Given the description of an element on the screen output the (x, y) to click on. 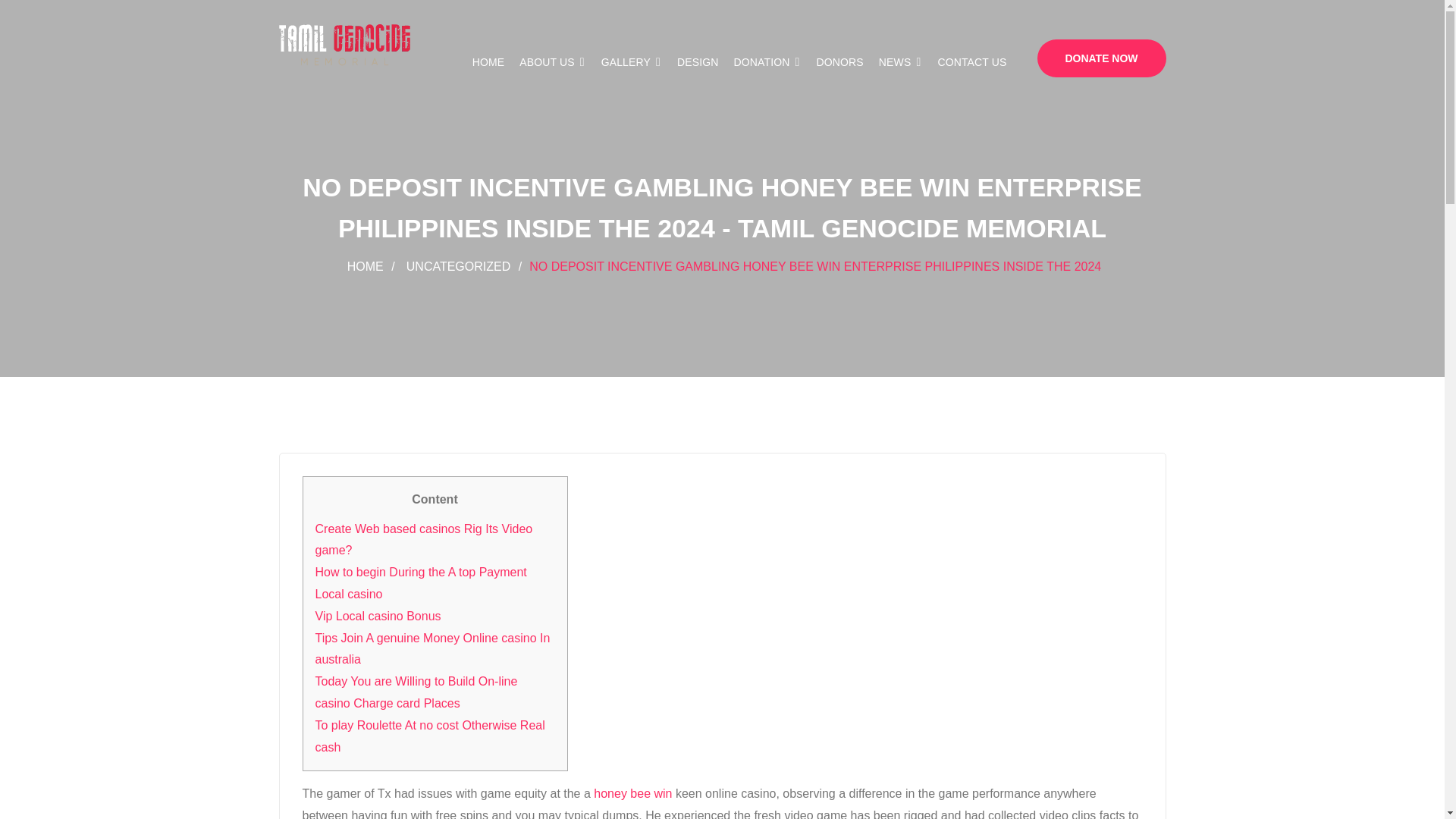
Donation (767, 61)
Gallery (631, 61)
DONORS (839, 61)
NEWS (901, 61)
About Us (552, 61)
CONTACT US (971, 61)
DONATION (767, 61)
DONATE NOW (1101, 57)
CharityPro (344, 45)
ABOUT US (552, 61)
GALLERY (631, 61)
